Given the description of an element on the screen output the (x, y) to click on. 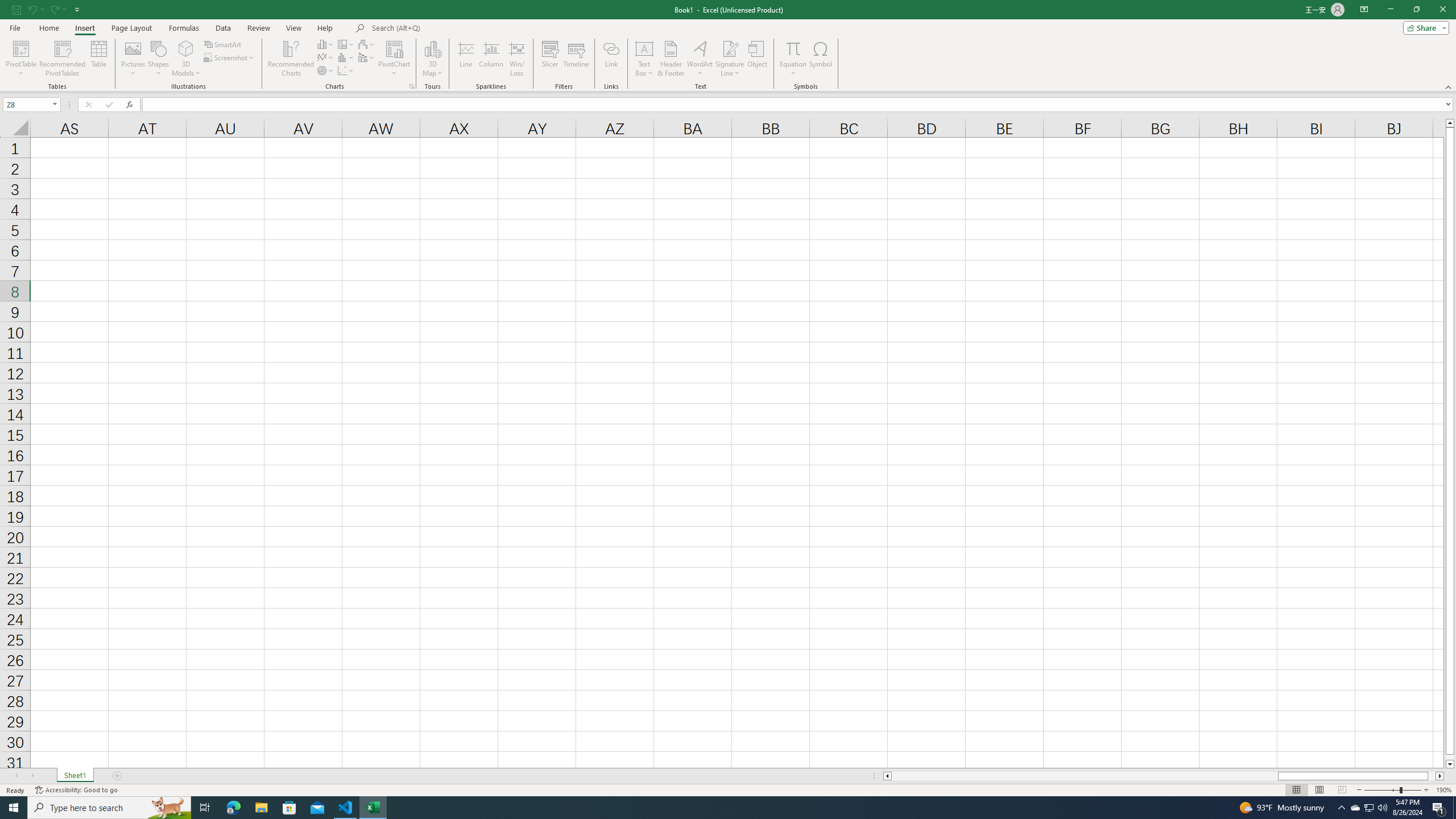
SmartArt... (223, 44)
Page left (1084, 775)
3D Models (186, 48)
PivotChart (394, 48)
